Given the description of an element on the screen output the (x, y) to click on. 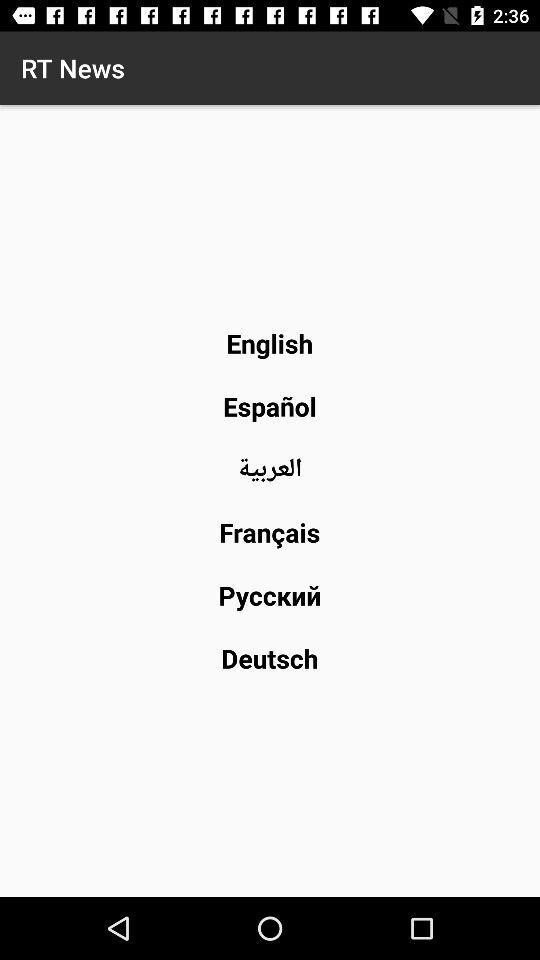
jump until deutsch item (269, 658)
